Given the description of an element on the screen output the (x, y) to click on. 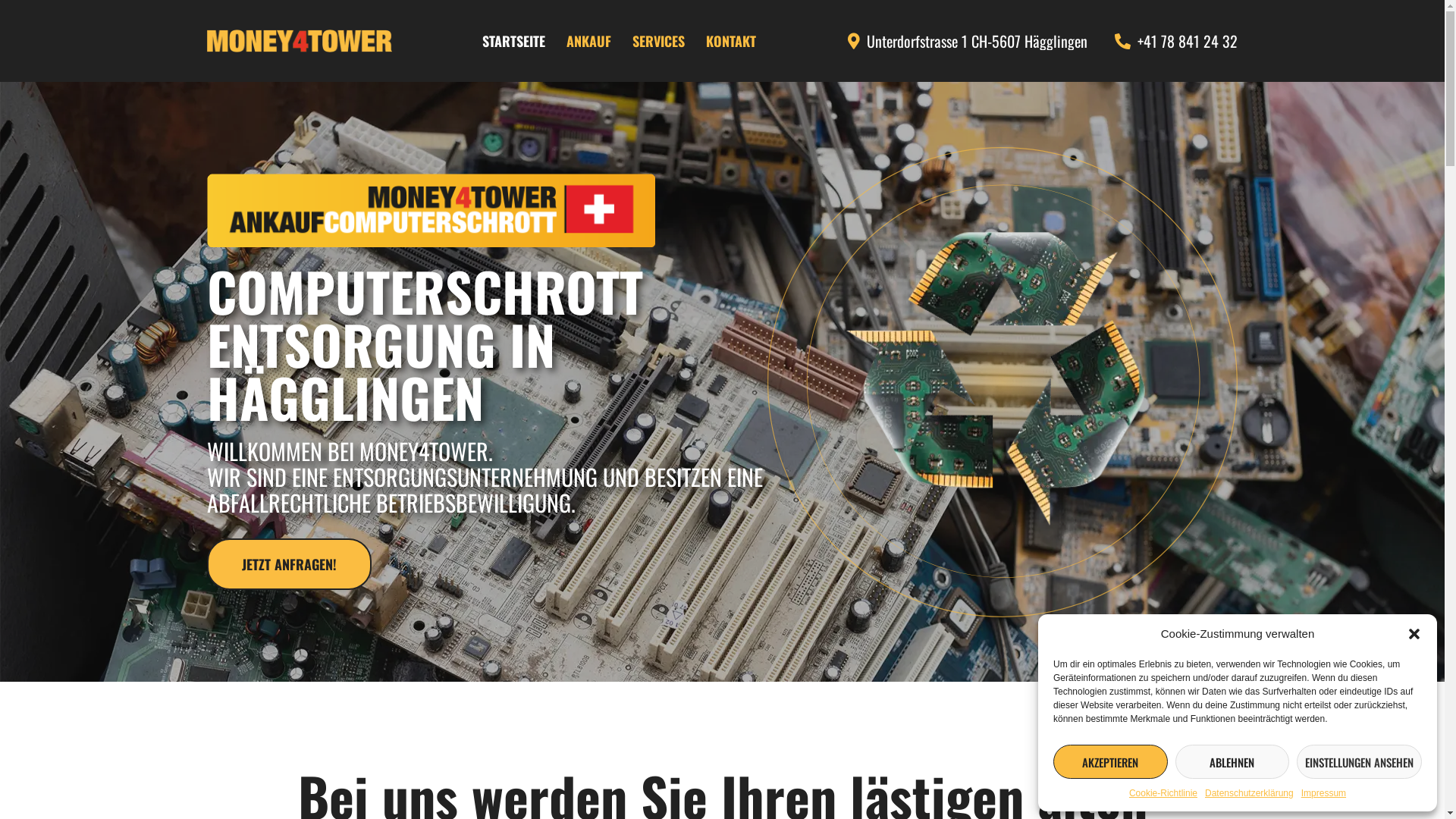
Cookie-Richtlinie Element type: text (1163, 793)
AKZEPTIEREN Element type: text (1110, 761)
ABLEHNEN Element type: text (1232, 761)
STARTSEITE Element type: text (513, 40)
KONTAKT Element type: text (731, 40)
Impressum Element type: text (1323, 793)
SERVICES Element type: text (658, 40)
EINSTELLUNGEN ANSEHEN Element type: text (1358, 761)
+41 78 841 24 32 Element type: text (1173, 40)
ANKAUF Element type: text (588, 40)
JETZT ANFRAGEN! Element type: text (288, 563)
